Given the description of an element on the screen output the (x, y) to click on. 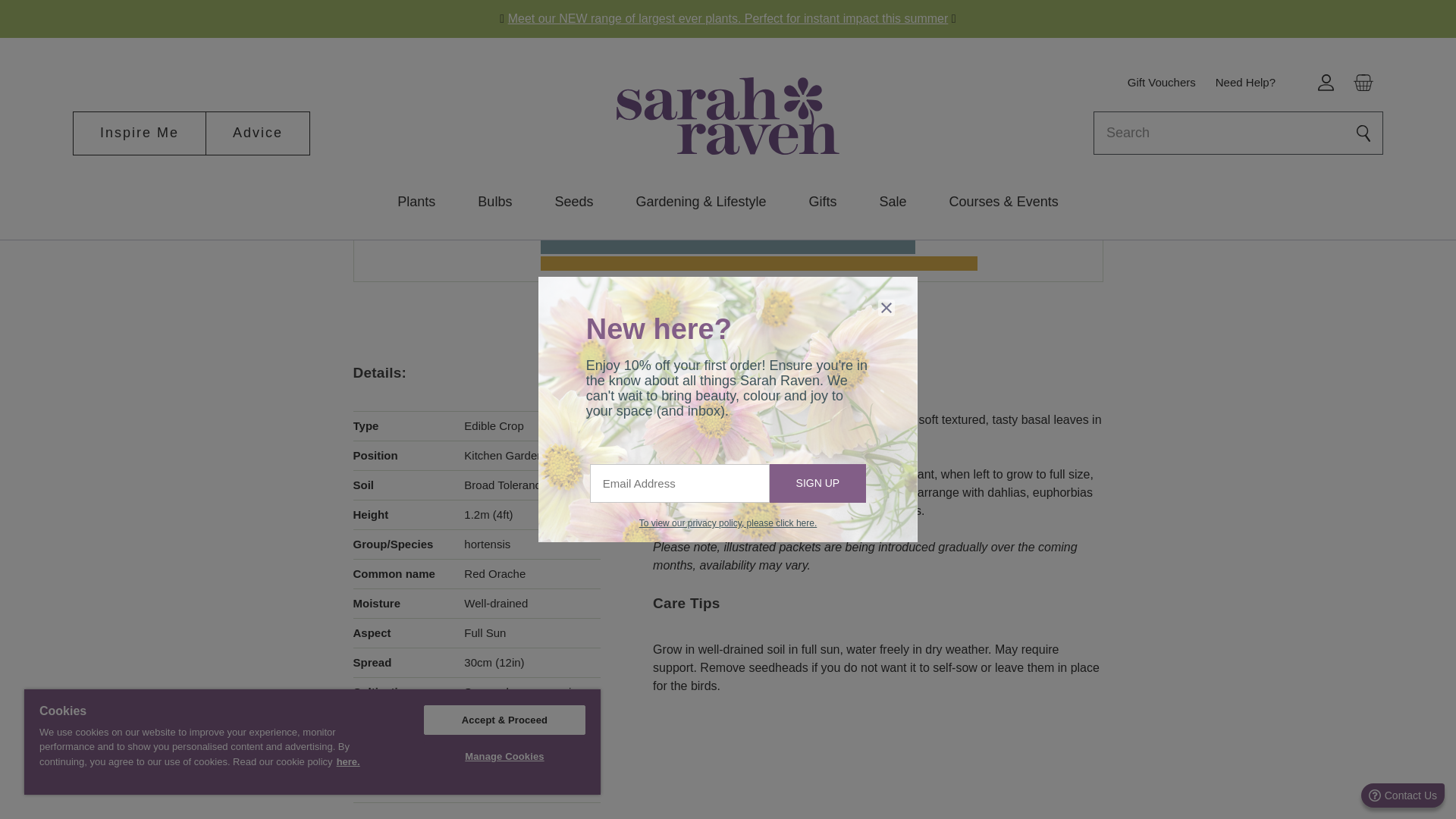
Atriplex hortensis var. rubra (499, 39)
